Given the description of an element on the screen output the (x, y) to click on. 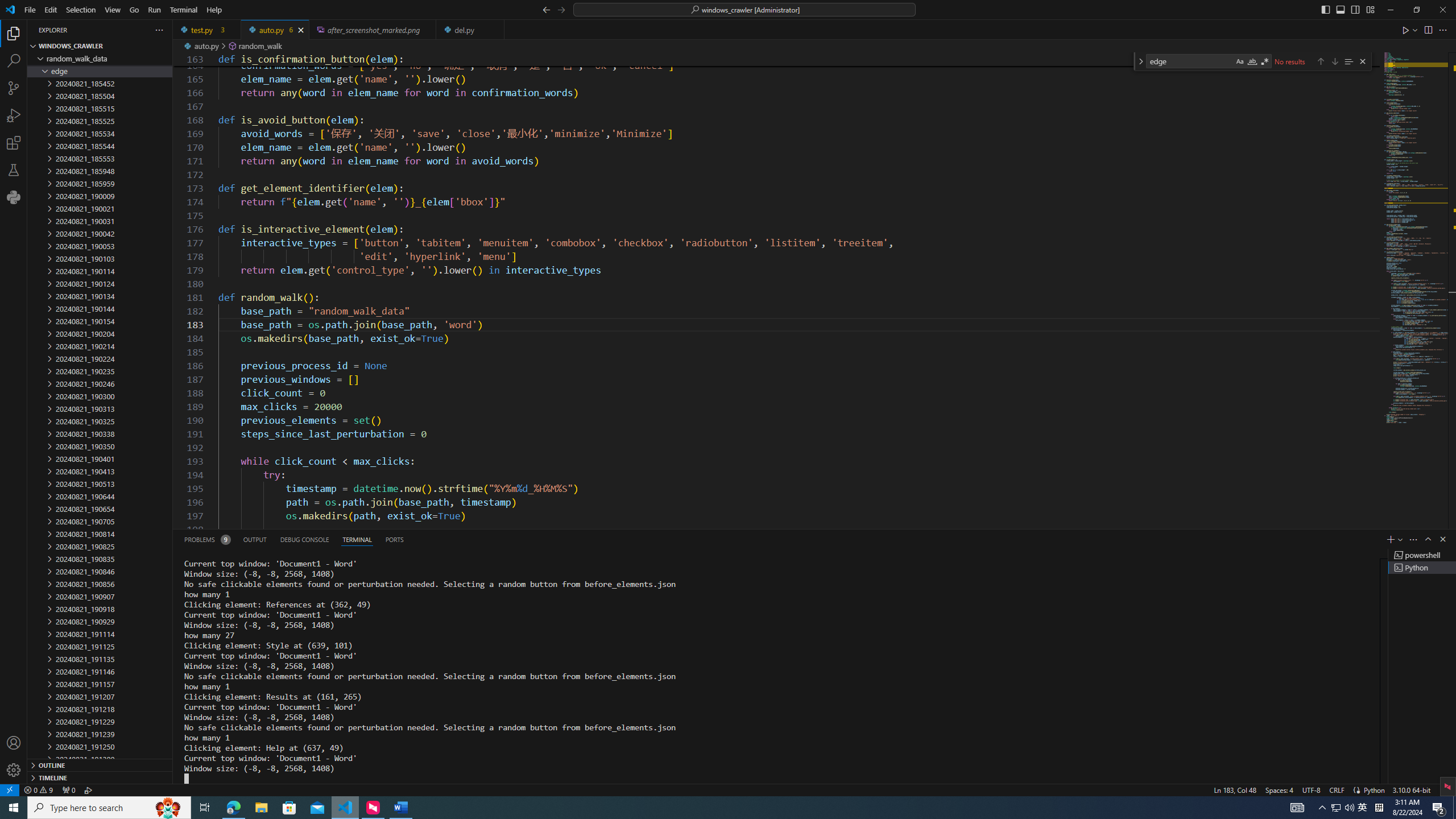
Manage (13, 755)
Run and Debug (Ctrl+Shift+D) (13, 115)
Match Whole Word (Alt+W) (1251, 61)
Timeline Section (99, 777)
Terminal 1 powershell (1422, 554)
Toggle Primary Side Bar (Ctrl+B) (1325, 9)
Match Case (Alt+C) (1239, 61)
Find in Selection (Alt+L) (1348, 60)
